Given the description of an element on the screen output the (x, y) to click on. 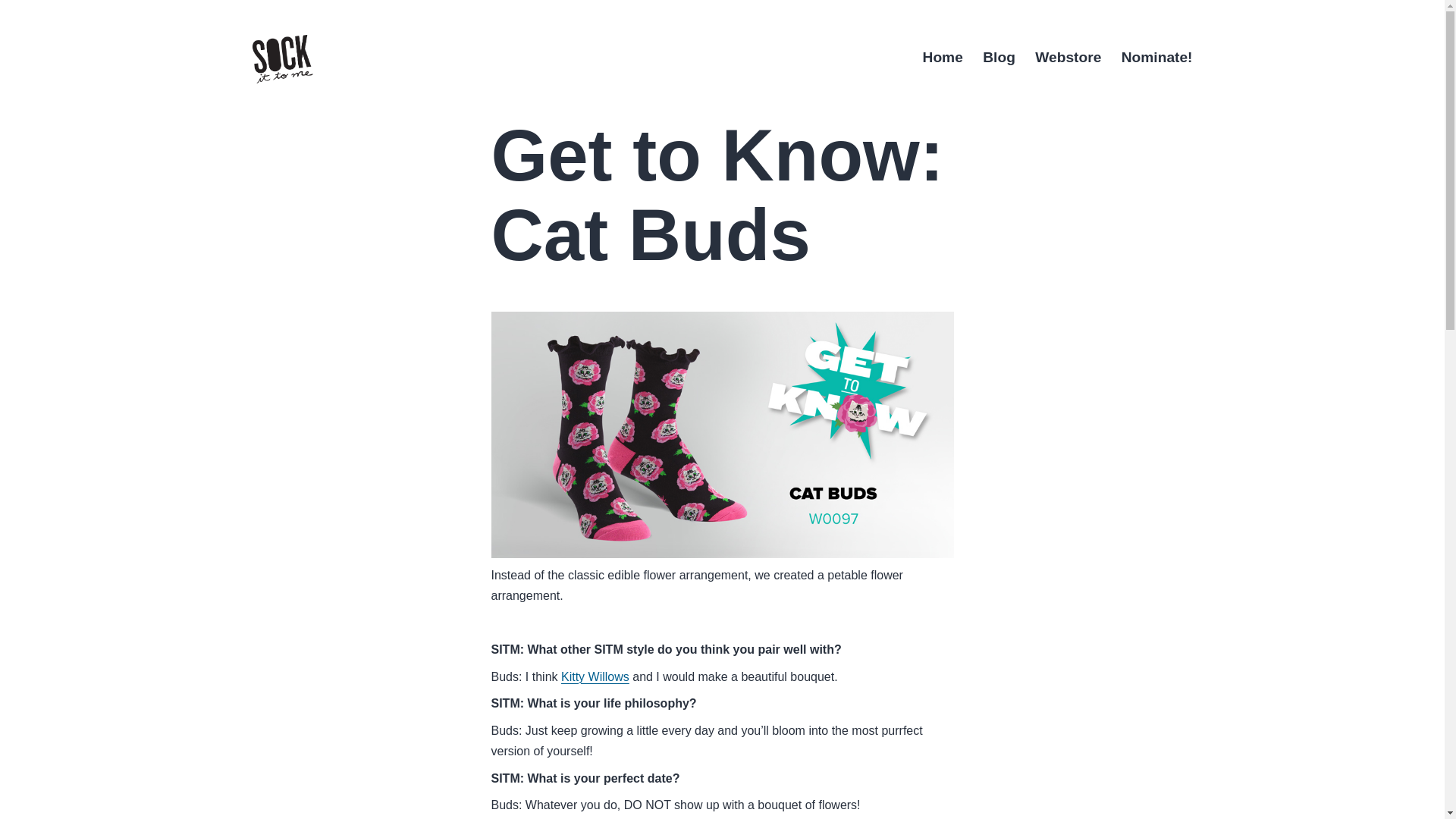
Webstore (1067, 57)
Nominate! (1157, 57)
Blog (998, 57)
Home (942, 57)
Kitty Willows (594, 676)
